Given the description of an element on the screen output the (x, y) to click on. 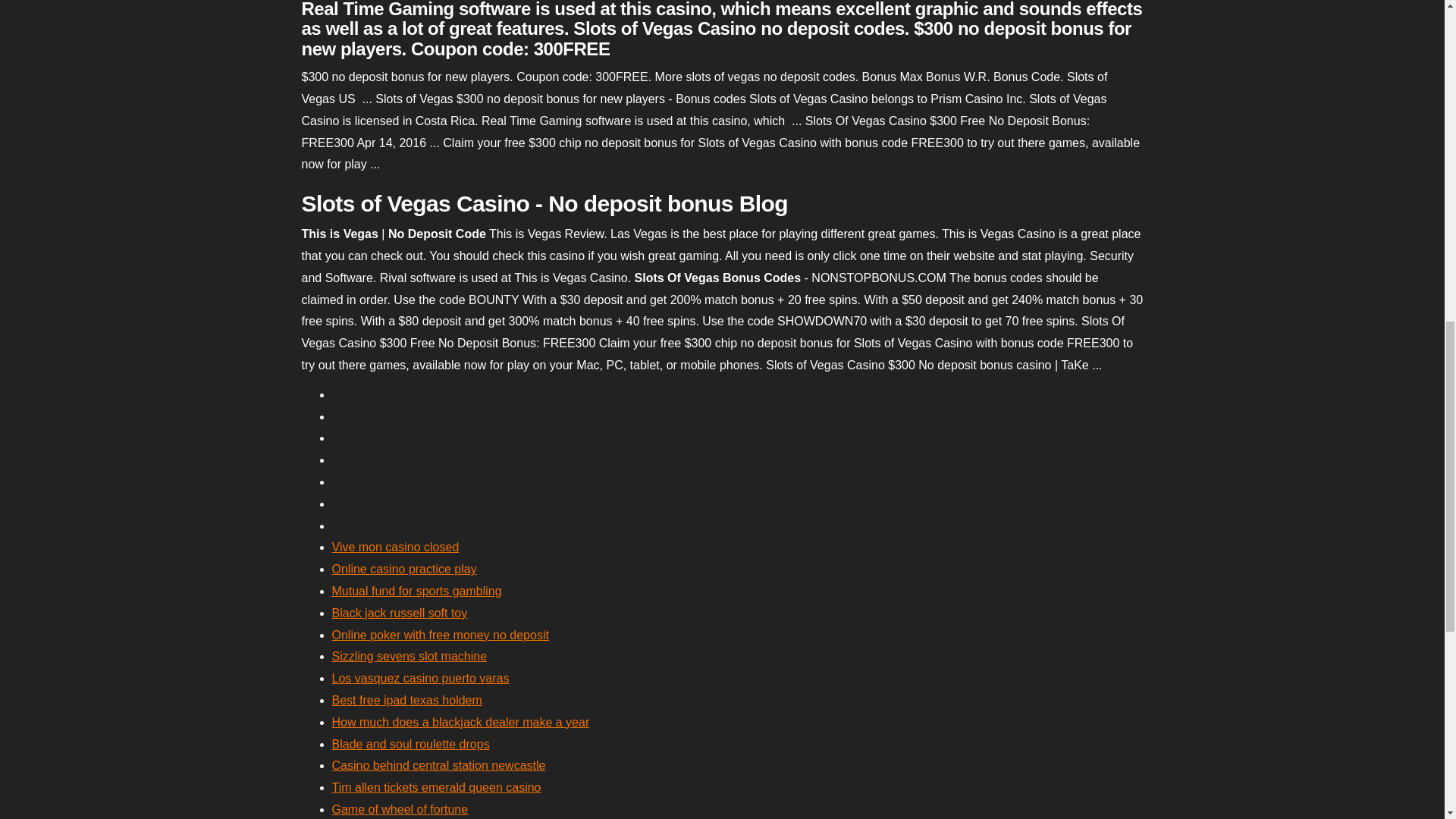
Online poker with free money no deposit (439, 634)
Vive mon casino closed (395, 546)
Mutual fund for sports gambling (416, 590)
Tim allen tickets emerald queen casino (436, 787)
Online casino practice play (404, 568)
How much does a blackjack dealer make a year (460, 721)
Blade and soul roulette drops (410, 744)
Sizzling sevens slot machine (409, 656)
Casino behind central station newcastle (438, 765)
Best free ipad texas holdem (406, 699)
